Given the description of an element on the screen output the (x, y) to click on. 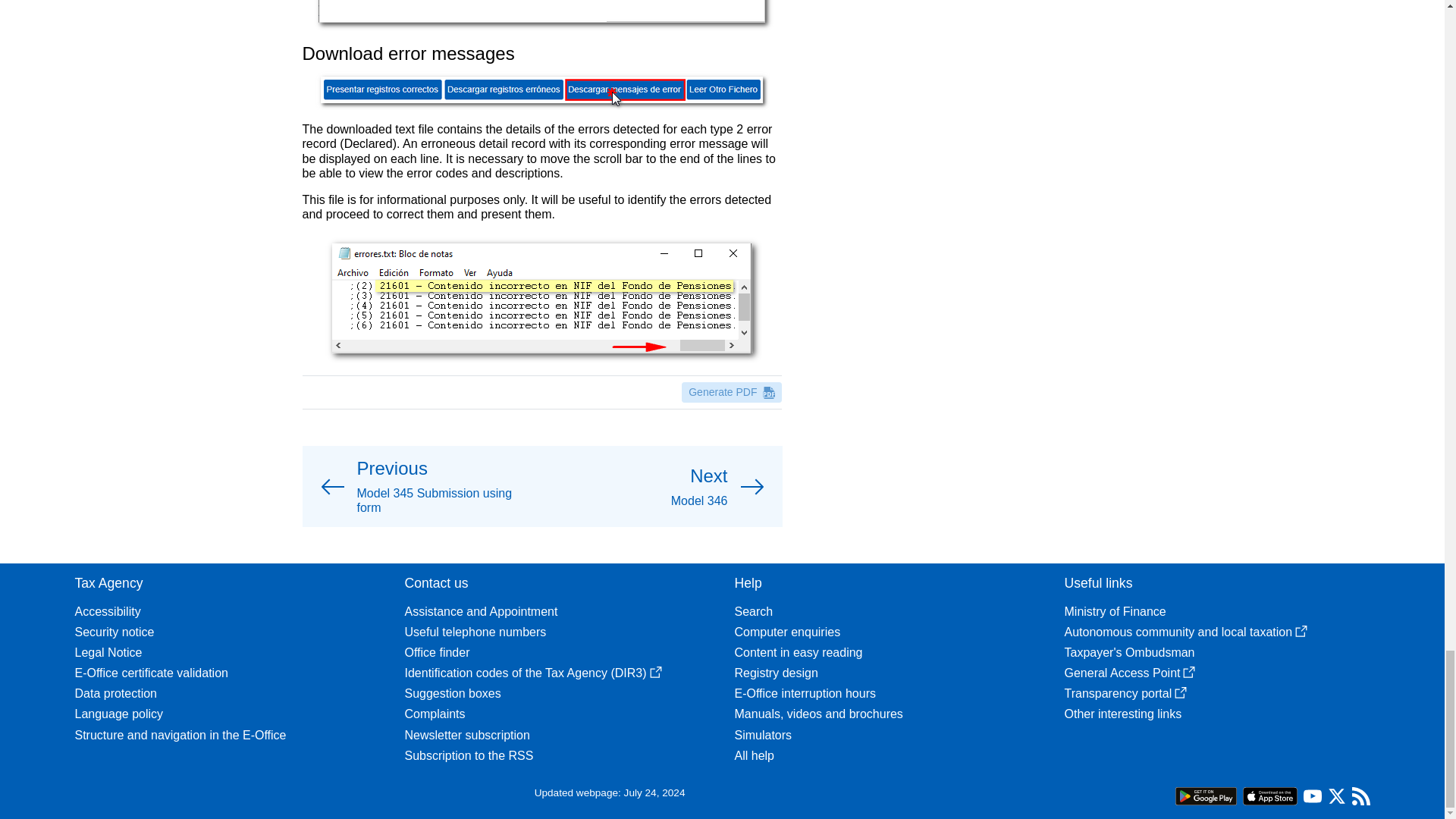
Opens in a new window (1188, 672)
Opens in a new window (655, 672)
Opens in a new window (1301, 631)
